Given the description of an element on the screen output the (x, y) to click on. 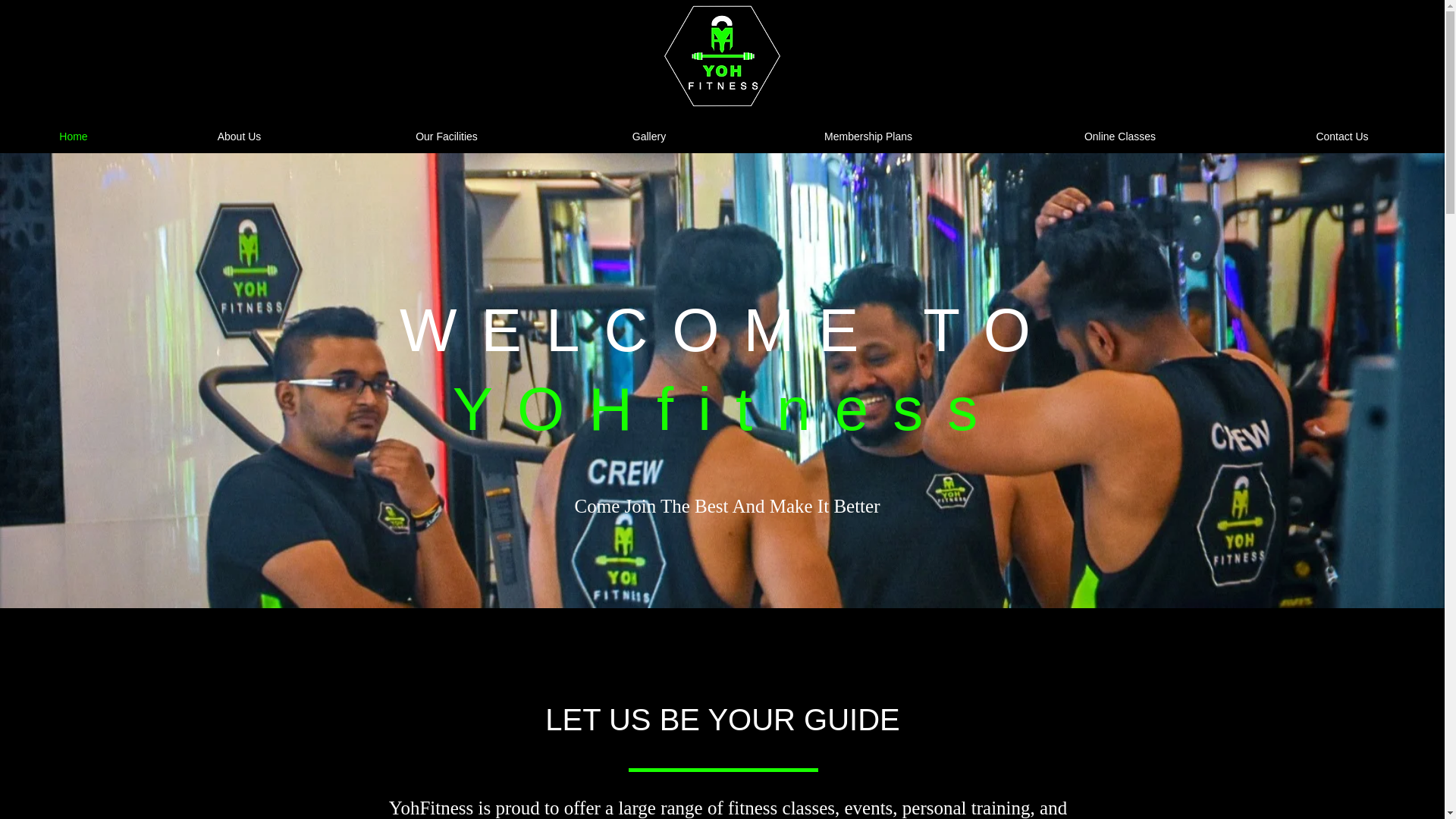
Online Classes (1120, 137)
About Us (239, 137)
Membership Plans (868, 137)
Our Facilities (446, 137)
Home (73, 137)
Gallery (649, 137)
